Given the description of an element on the screen output the (x, y) to click on. 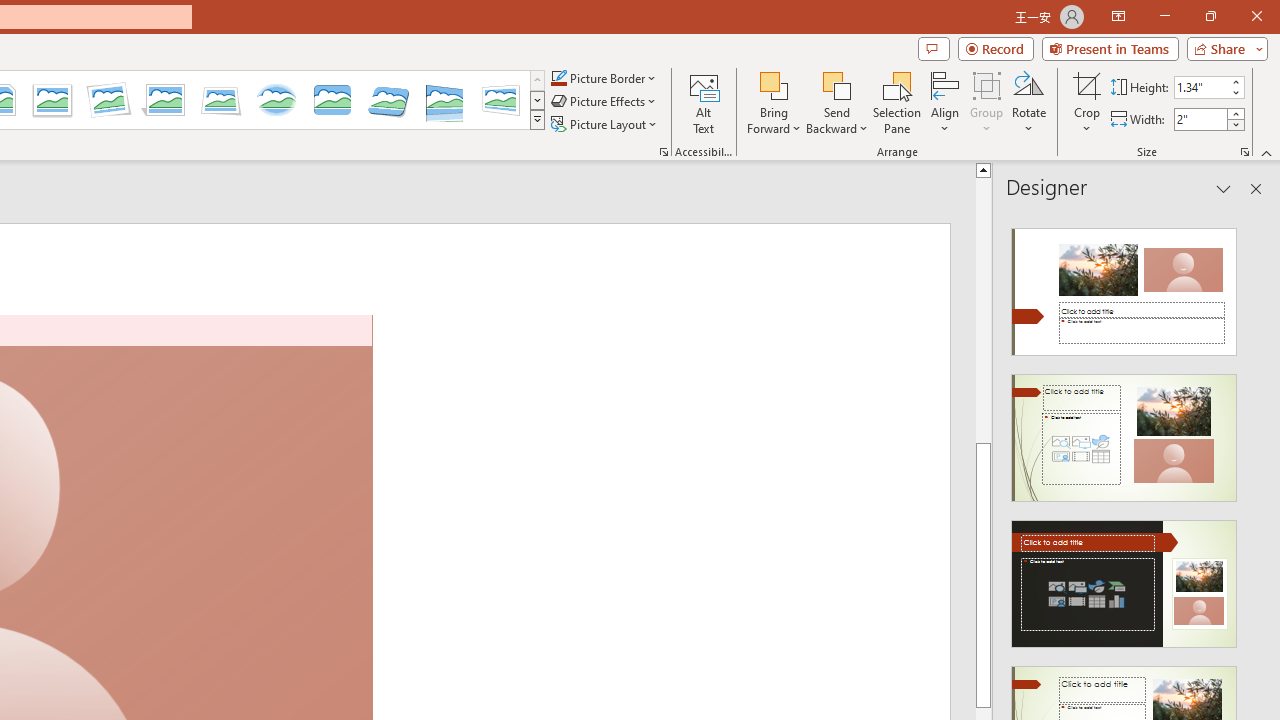
Moderate Frame, White (52, 100)
Bevel Rectangle (332, 100)
Shape Width (1201, 119)
Size and Position... (1244, 151)
Design Idea (1124, 577)
Rotated, White (108, 100)
Page up (1271, 309)
Recommended Design: Design Idea (1124, 286)
Rotate (1028, 102)
Selection Pane... (897, 102)
